Given the description of an element on the screen output the (x, y) to click on. 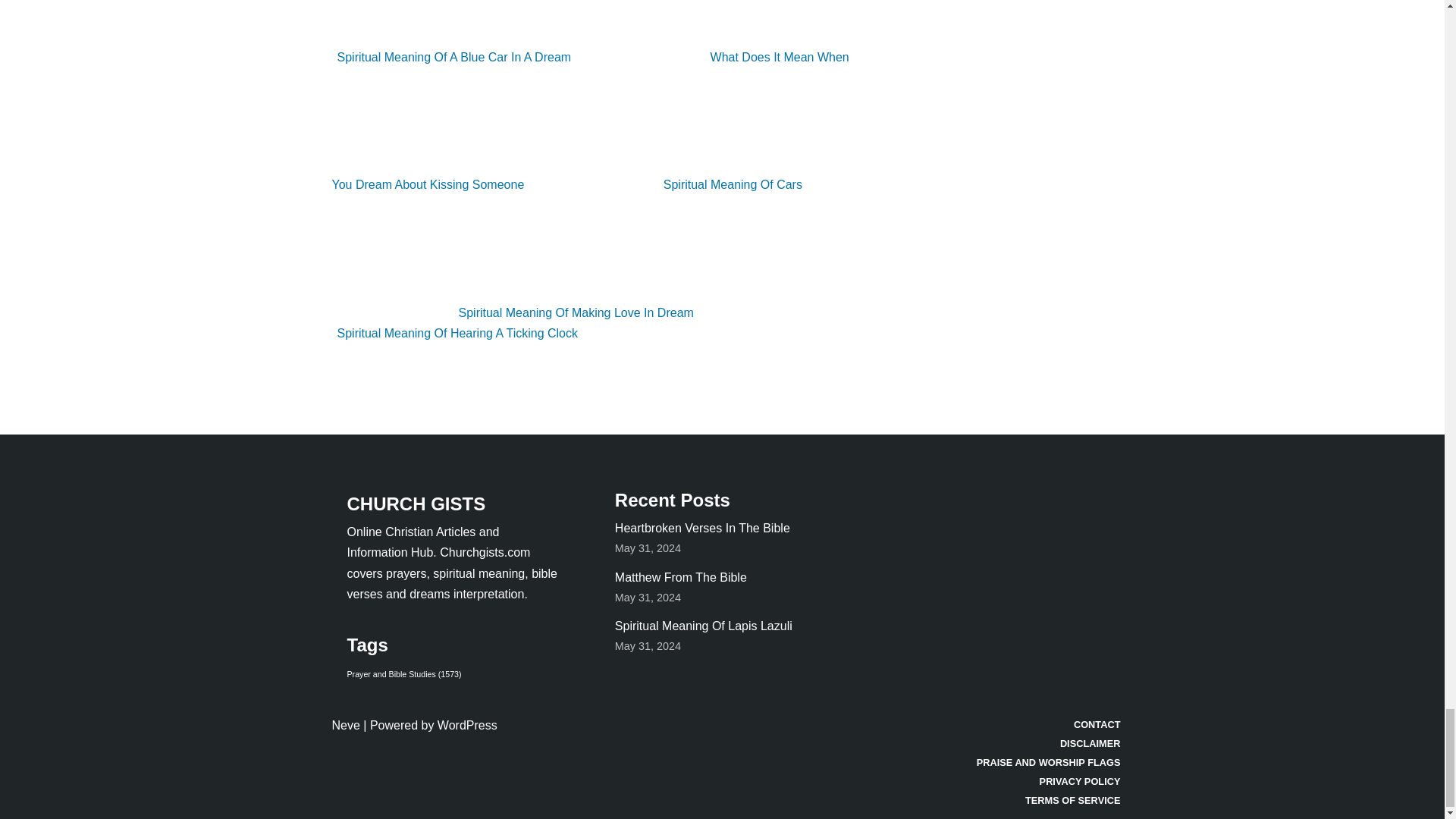
Spiritual Meaning Of Cars (672, 184)
Spiritual Meaning Of Hearing A Ticking Clock (579, 322)
What Does It Mean When You Dream About Kissing Someone (589, 120)
Spiritual Meaning Of Making Love In Dream (514, 312)
Spiritual Meaning Of A Blue Car In A Dream (594, 31)
Spiritual Meaning Of Making Love In Dream (514, 312)
What Does It Mean When You Dream About Kissing Someone (589, 120)
Spiritual Meaning Of A Blue Car In A Dream (594, 31)
Spiritual Meaning Of Hearing A Ticking Clock (579, 322)
Spiritual Meaning Of Cars (672, 184)
